Given the description of an element on the screen output the (x, y) to click on. 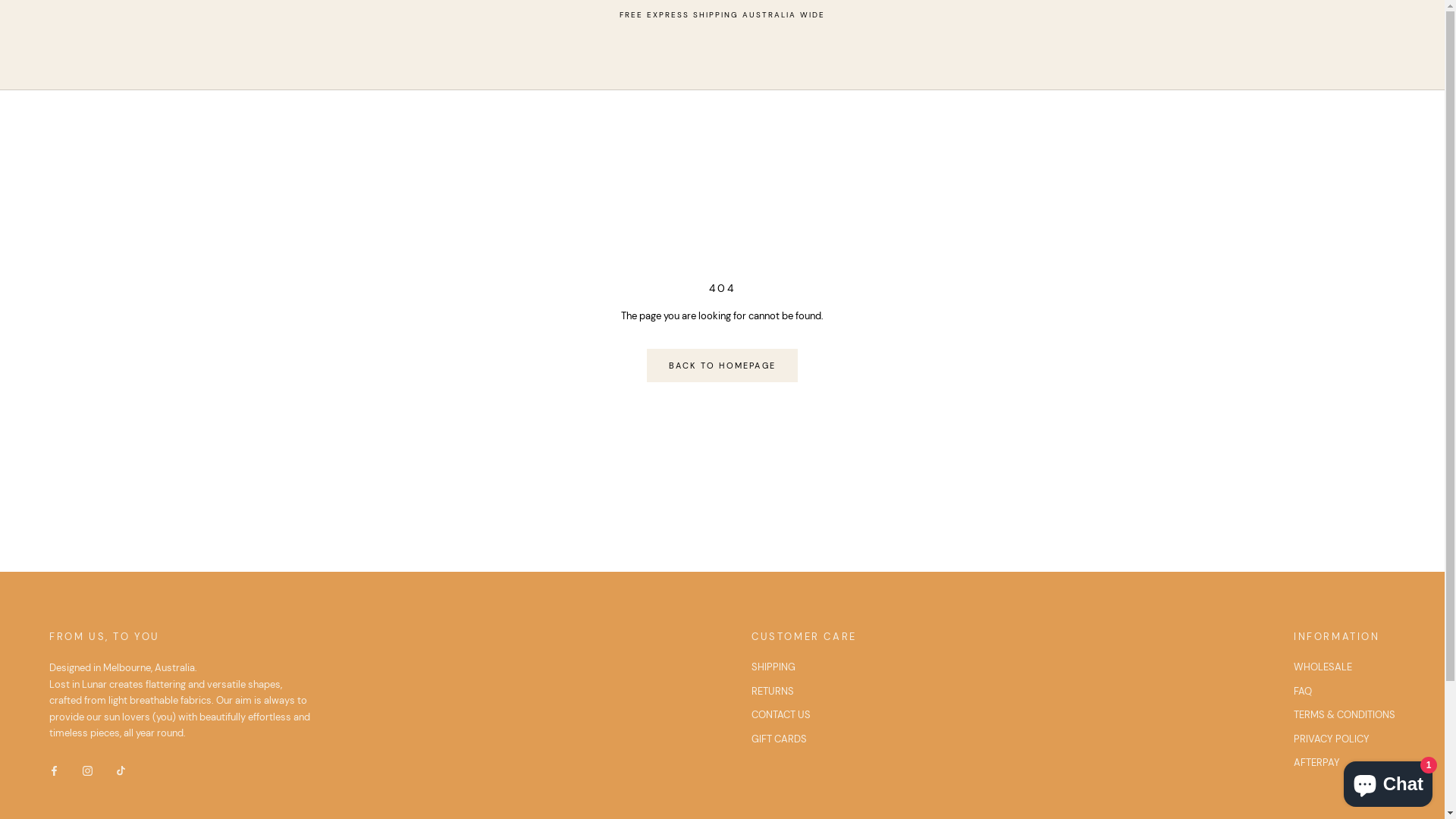
Shopify online store chat Element type: hover (1388, 780)
PRIVACY POLICY Element type: text (1344, 738)
BACK TO HOMEPAGE Element type: text (721, 365)
AFTERPAY Element type: text (1344, 762)
GIFT CARDS Element type: text (803, 738)
RETURNS Element type: text (803, 691)
SHIPPING Element type: text (803, 666)
CONTACT US Element type: text (803, 714)
WHOLESALE Element type: text (1344, 666)
TERMS & CONDITIONS Element type: text (1344, 714)
FAQ Element type: text (1344, 691)
